Given the description of an element on the screen output the (x, y) to click on. 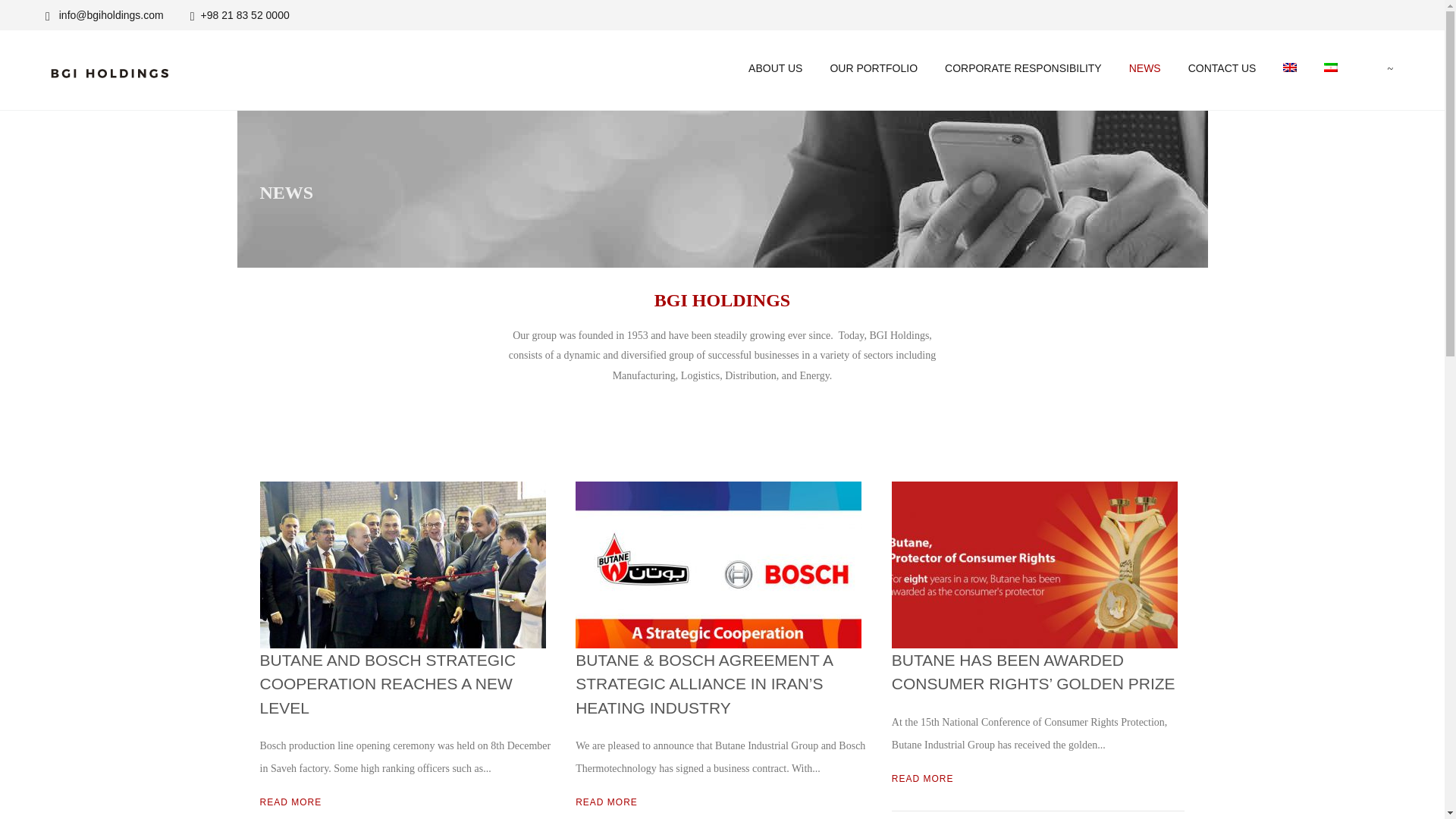
READ MORE (922, 778)
READ MORE (606, 801)
OUR PORTFOLIO (873, 68)
CONTACT US (1221, 68)
BUTANE AND BOSCH STRATEGIC COOPERATION REACHES A NEW LEVEL (387, 683)
CORPORATE RESPONSIBILITY (1023, 68)
ABOUT US (775, 68)
READ MORE (290, 801)
